Given the description of an element on the screen output the (x, y) to click on. 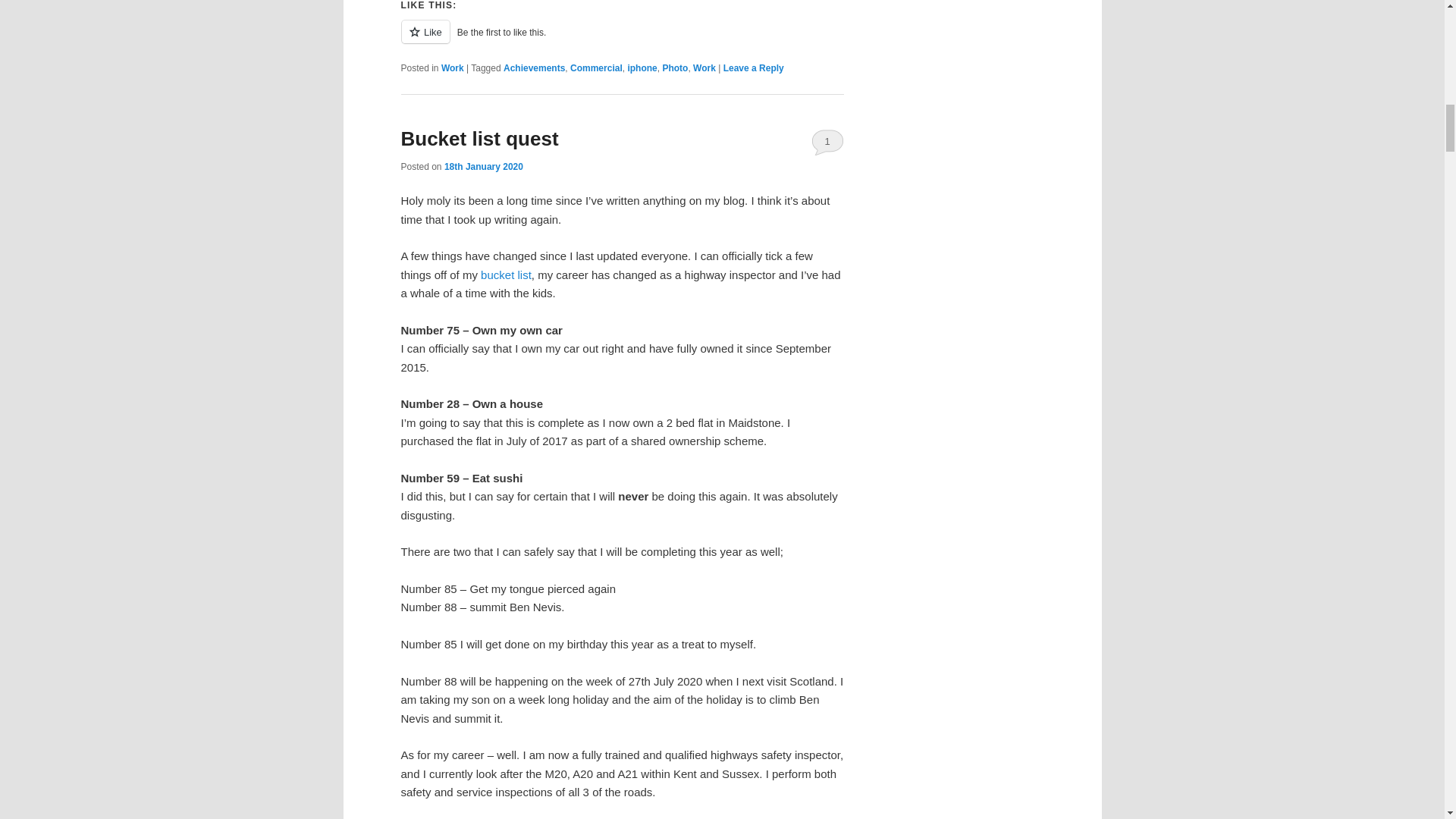
Achievements (533, 68)
Work (452, 68)
Commercial (596, 68)
Like or Reblog (621, 40)
Work (704, 68)
Photo (674, 68)
iphone (641, 68)
